Given the description of an element on the screen output the (x, y) to click on. 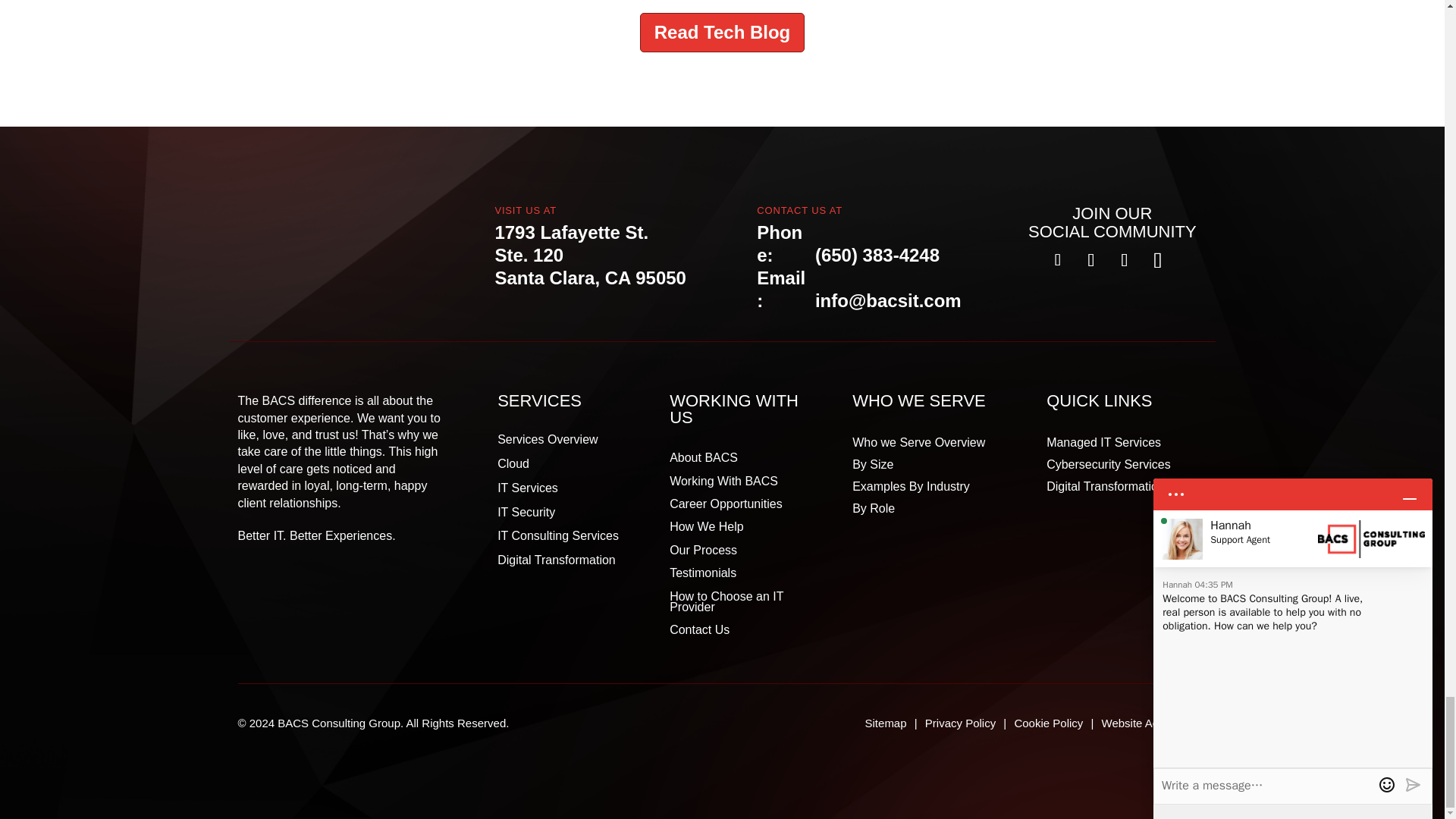
Follow on LinkedIn (1124, 259)
BACS Consulting Group in California (315, 237)
Follow on Facebook (1057, 259)
Follow on Youtube (1157, 259)
Follow on X (1090, 259)
